Given the description of an element on the screen output the (x, y) to click on. 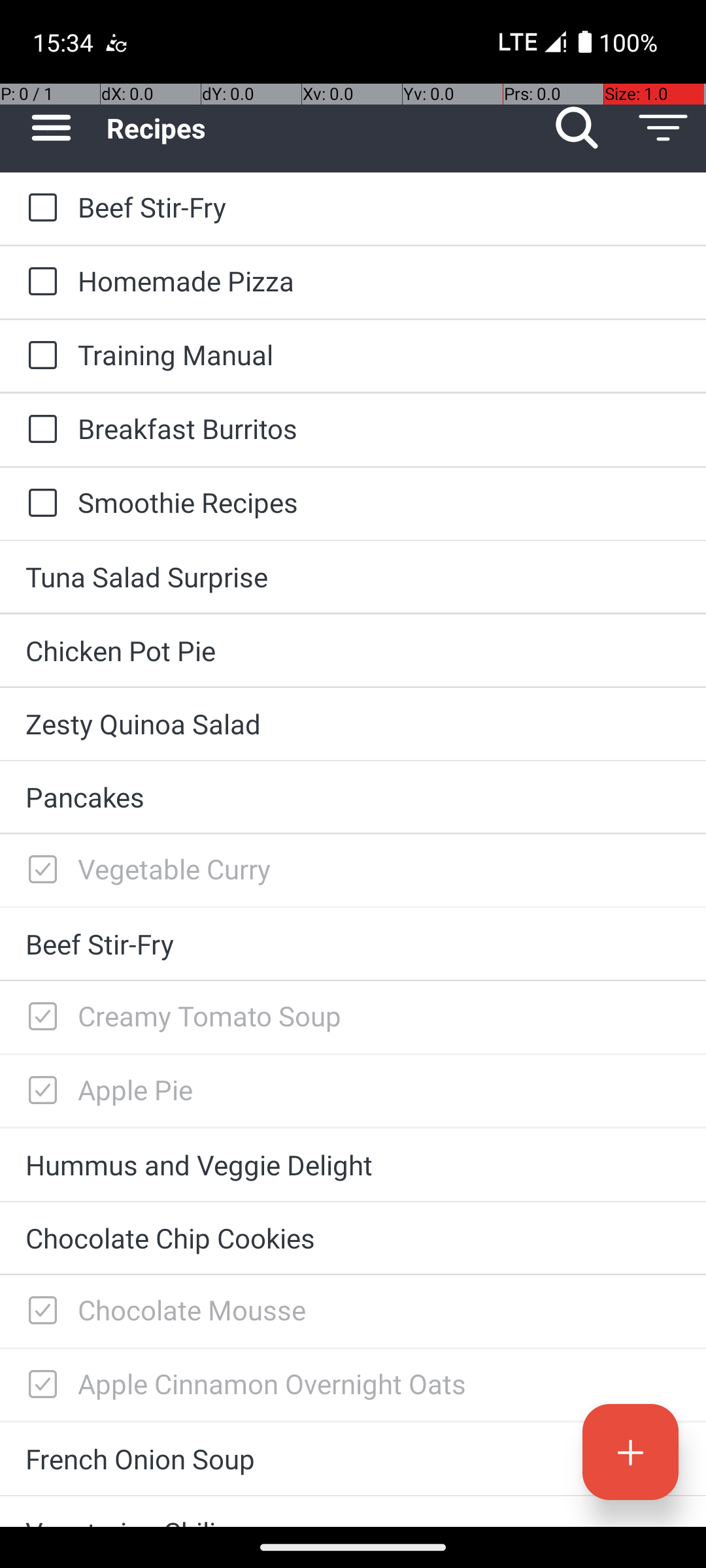
to-do: Beef Stir-Fry Element type: android.widget.CheckBox (38, 208)
Beef Stir-Fry Element type: android.widget.TextView (378, 206)
to-do: Homemade Pizza Element type: android.widget.CheckBox (38, 282)
Homemade Pizza Element type: android.widget.TextView (378, 280)
to-do: Training Manual Element type: android.widget.CheckBox (38, 356)
Training Manual Element type: android.widget.TextView (378, 354)
to-do: Breakfast Burritos Element type: android.widget.CheckBox (38, 429)
Breakfast Burritos Element type: android.widget.TextView (378, 427)
to-do: Smoothie Recipes Element type: android.widget.CheckBox (38, 503)
Smoothie Recipes Element type: android.widget.TextView (378, 501)
Tuna Salad Surprise Element type: android.widget.TextView (352, 576)
Chicken Pot Pie Element type: android.widget.TextView (352, 650)
Zesty Quinoa Salad Element type: android.widget.TextView (352, 723)
Pancakes Element type: android.widget.TextView (352, 796)
to-do: Vegetable Curry Element type: android.widget.CheckBox (38, 870)
Vegetable Curry Element type: android.widget.TextView (378, 868)
to-do: Creamy Tomato Soup Element type: android.widget.CheckBox (38, 1017)
Creamy Tomato Soup Element type: android.widget.TextView (378, 1015)
to-do: Apple Pie Element type: android.widget.CheckBox (38, 1091)
Apple Pie Element type: android.widget.TextView (378, 1089)
Hummus and Veggie Delight Element type: android.widget.TextView (352, 1164)
Chocolate Chip Cookies Element type: android.widget.TextView (352, 1237)
to-do: Chocolate Mousse Element type: android.widget.CheckBox (38, 1311)
Chocolate Mousse Element type: android.widget.TextView (378, 1309)
to-do: Apple Cinnamon Overnight Oats Element type: android.widget.CheckBox (38, 1385)
Apple Cinnamon Overnight Oats Element type: android.widget.TextView (378, 1383)
French Onion Soup Element type: android.widget.TextView (352, 1458)
Vegetarian Chili Element type: android.widget.TextView (352, 1519)
